Given the description of an element on the screen output the (x, y) to click on. 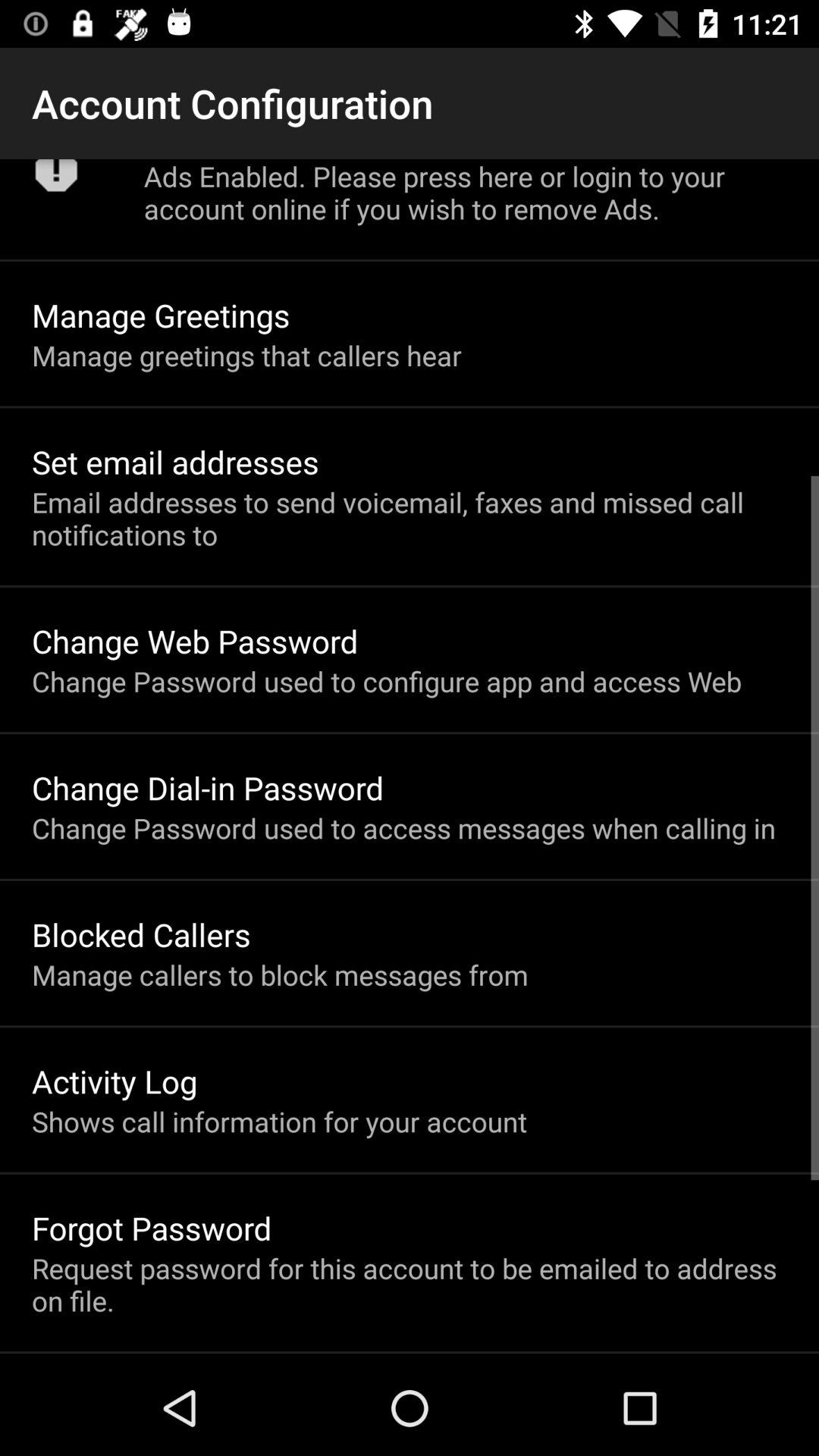
swipe to the forgot password (151, 1227)
